Given the description of an element on the screen output the (x, y) to click on. 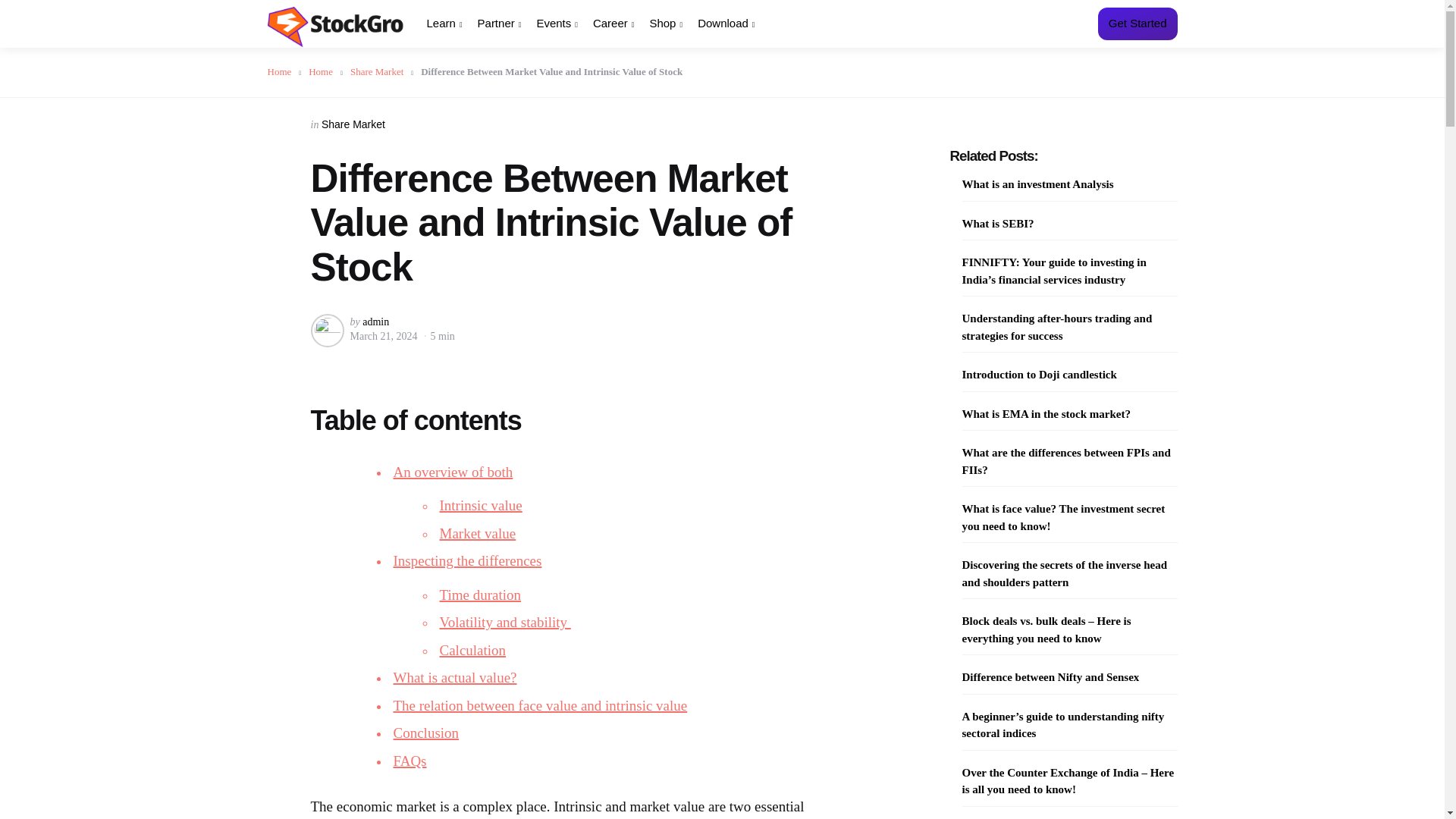
Introduction to Doji candlestick (1038, 374)
Partner (499, 23)
What is SEBI? (996, 224)
Career (613, 23)
Difference between Nifty and Sensex (1049, 676)
Share Market (381, 71)
Home (325, 71)
Download (725, 23)
Home (283, 71)
Events (556, 23)
